Given the description of an element on the screen output the (x, y) to click on. 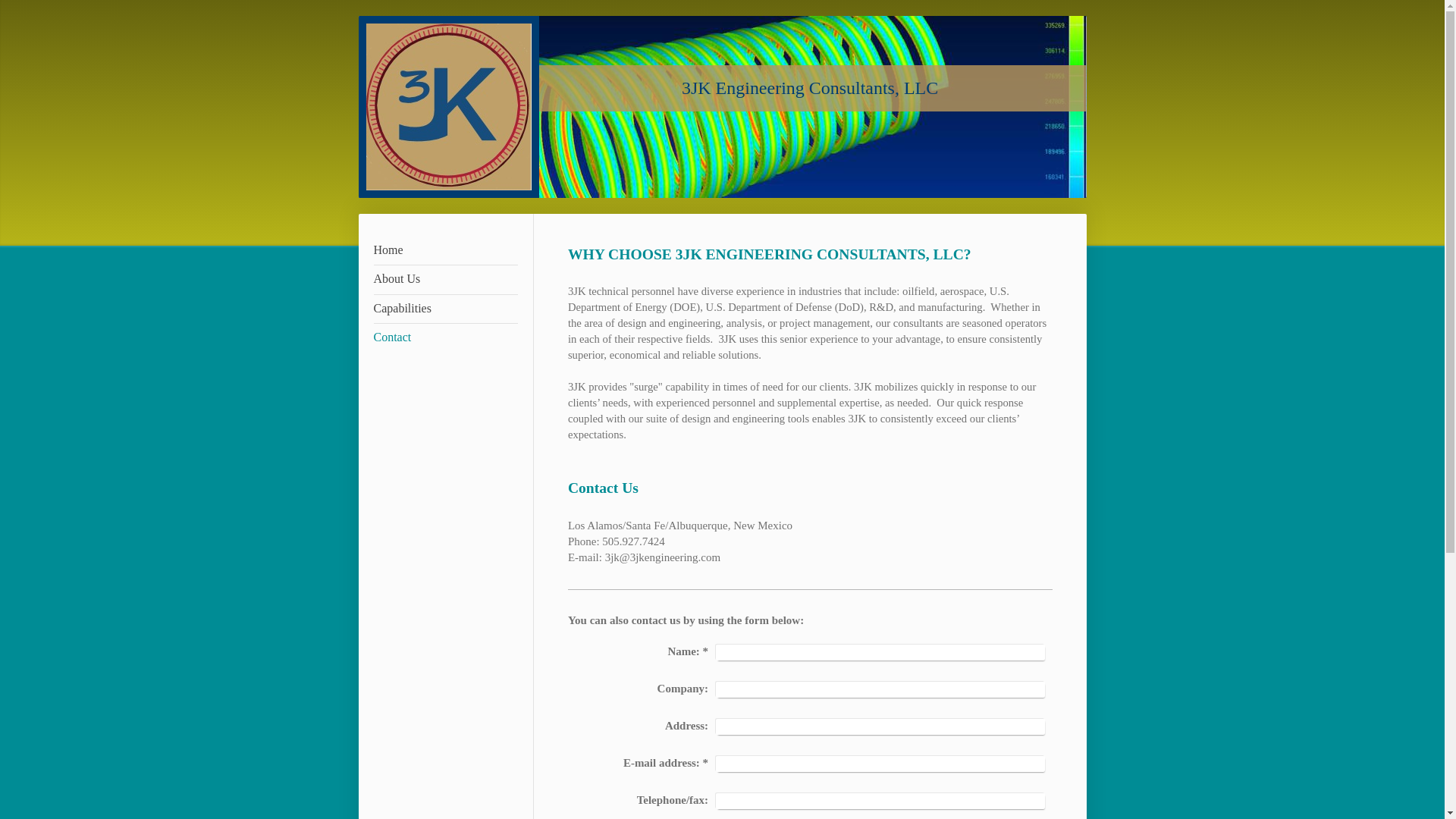
Home Element type: text (445, 250)
Capabilities Element type: text (445, 308)
About Us Element type: text (445, 279)
Contact Element type: text (445, 337)
